Given the description of an element on the screen output the (x, y) to click on. 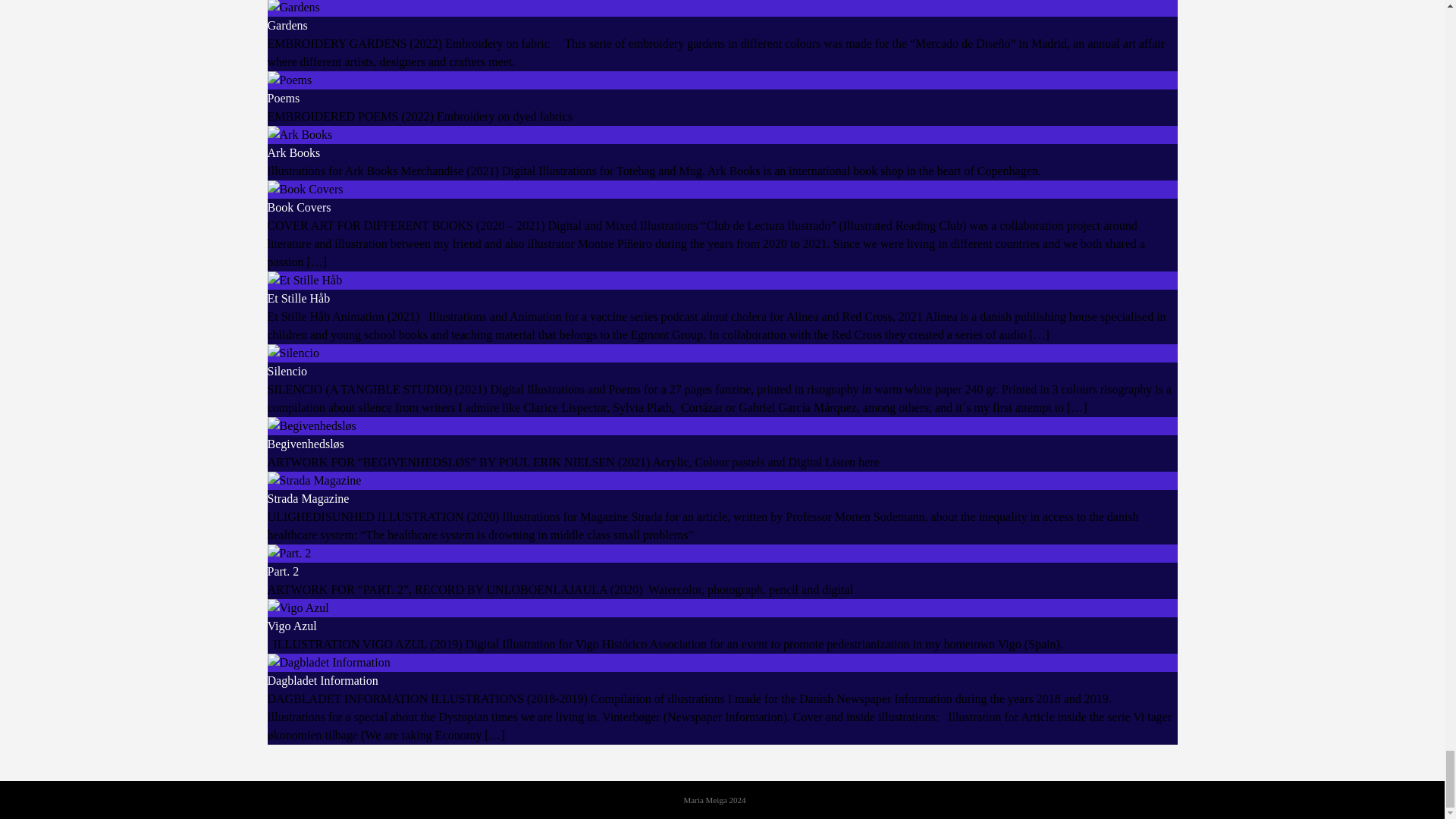
Gardens (286, 24)
